Given the description of an element on the screen output the (x, y) to click on. 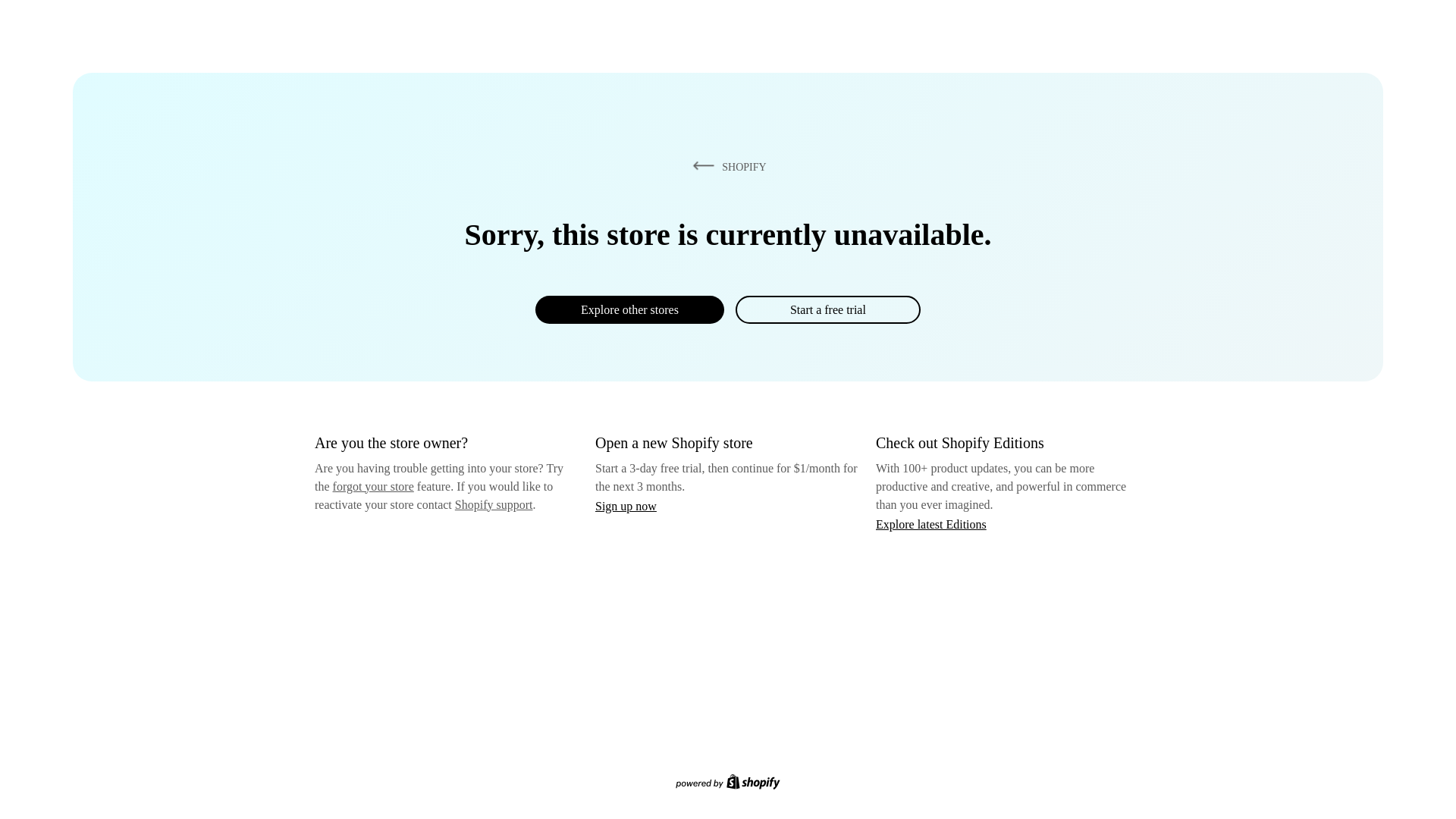
Start a free trial (827, 309)
SHOPIFY (726, 166)
Explore other stores (629, 309)
Explore latest Editions (931, 523)
forgot your store (373, 486)
Shopify support (493, 504)
Sign up now (625, 505)
